Given the description of an element on the screen output the (x, y) to click on. 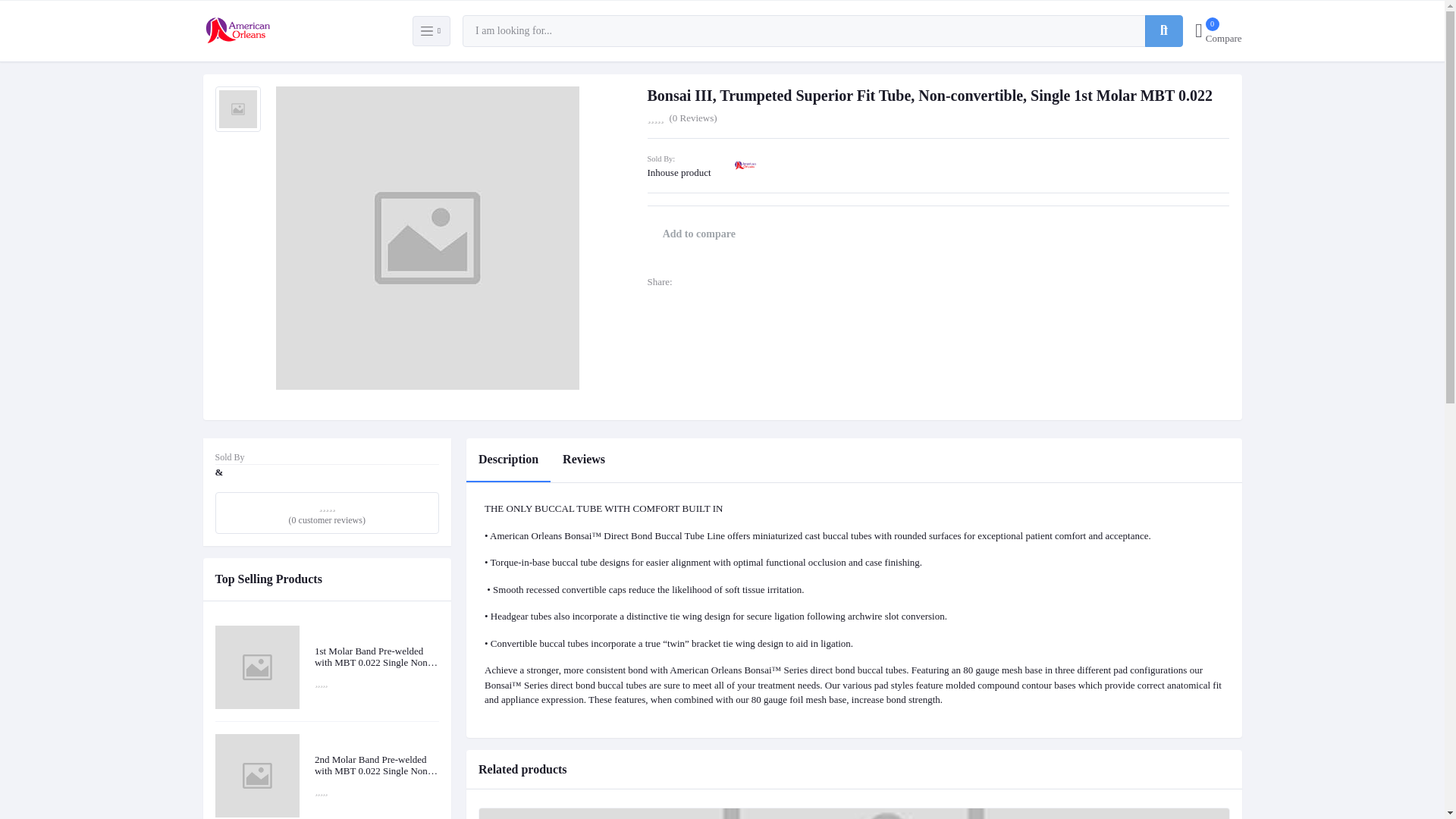
Add to compare (1218, 30)
Reviews (699, 234)
Description (583, 460)
